Given the description of an element on the screen output the (x, y) to click on. 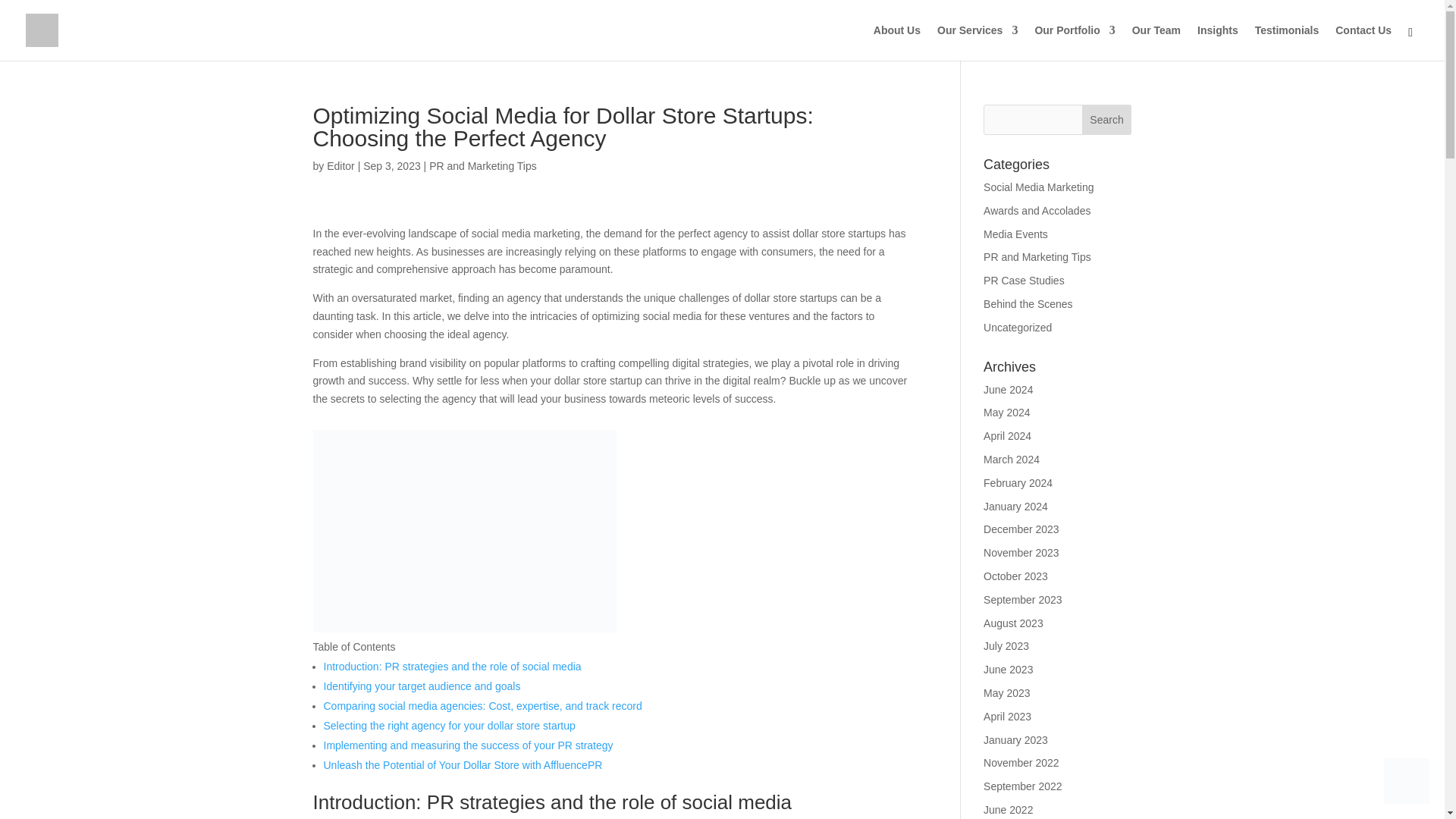
Editor (340, 165)
Introduction: PR strategies and the role of social media (451, 666)
Identifying your target audience and goals (421, 686)
Our Team (1156, 42)
About Us (896, 42)
Introduction: PR strategies and the role of social media (451, 666)
Selecting the right agency for your dollar store startup (449, 725)
Unleash the Potential of Your Dollar Store with AffluencePR (462, 765)
PR and Marketing Tips (483, 165)
Implementing and measuring the success of your PR strategy (467, 745)
Our Services (977, 42)
Implementing and measuring the success of your PR strategy (467, 745)
Testimonials (1287, 42)
Selecting the right agency for your dollar store startup (449, 725)
